Given the description of an element on the screen output the (x, y) to click on. 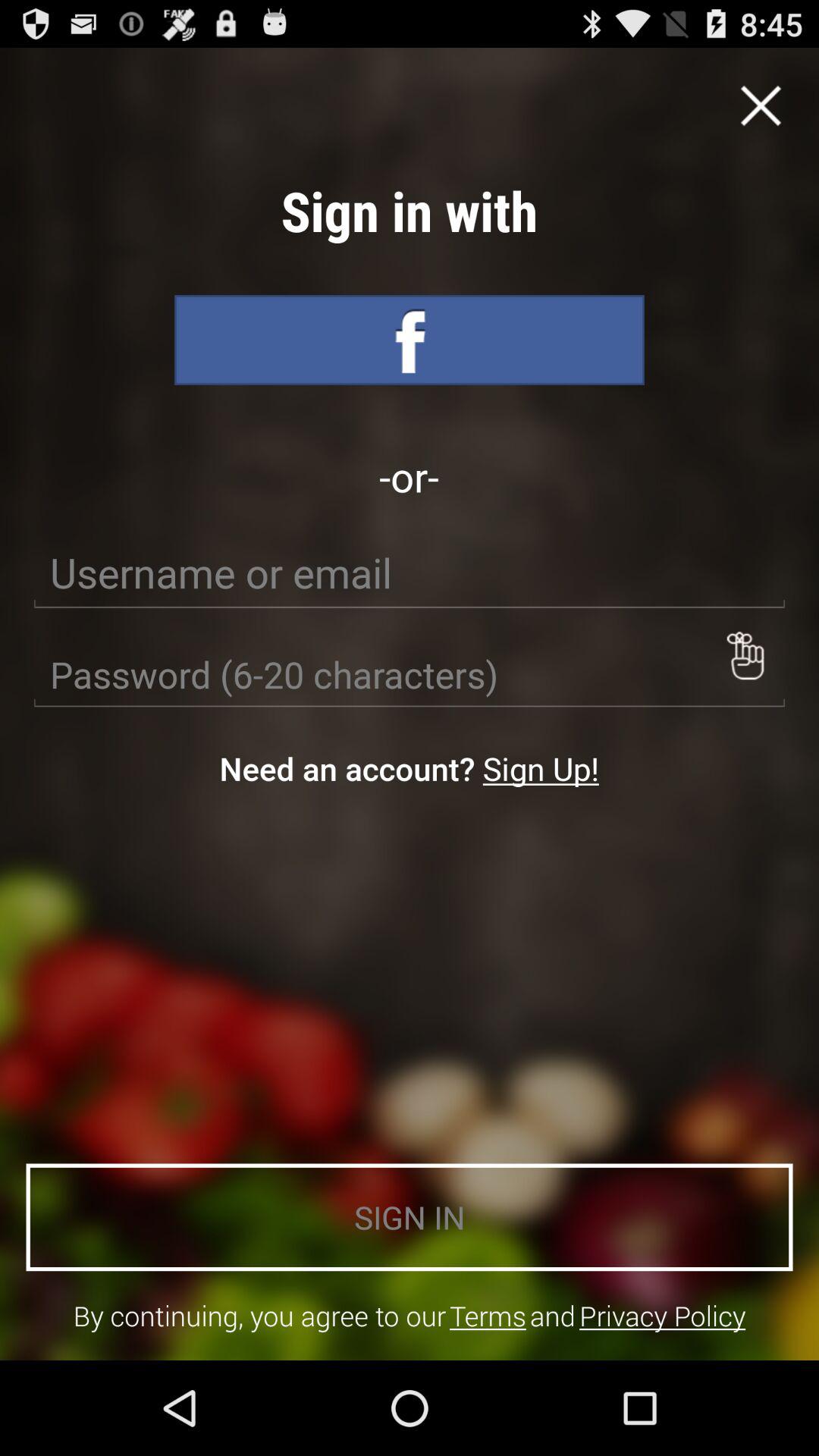
enter password (409, 674)
